Given the description of an element on the screen output the (x, y) to click on. 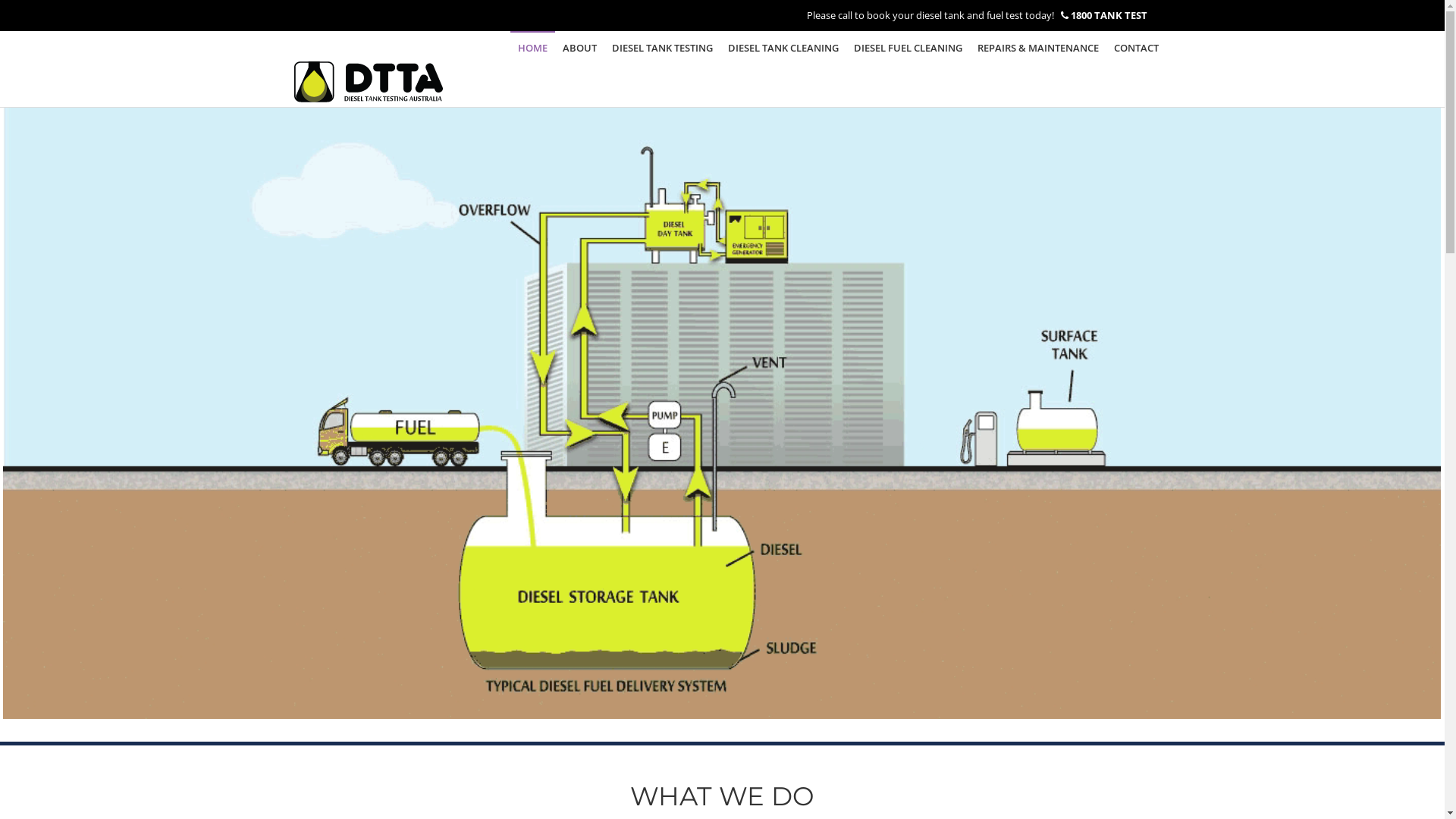
1800 TANK TEST Element type: text (1108, 14)
DIESEL FUEL CLEANING Element type: text (907, 47)
HOME Element type: text (531, 47)
DIESEL TANK TESTING Element type: text (661, 47)
Diesel Tank Testing Australia Element type: hover (368, 68)
ABOUT Element type: text (579, 47)
REPAIRS & MAINTENANCE Element type: text (1037, 47)
DIESEL TANK CLEANING Element type: text (783, 47)
CONTACT Element type: text (1135, 47)
